Given the description of an element on the screen output the (x, y) to click on. 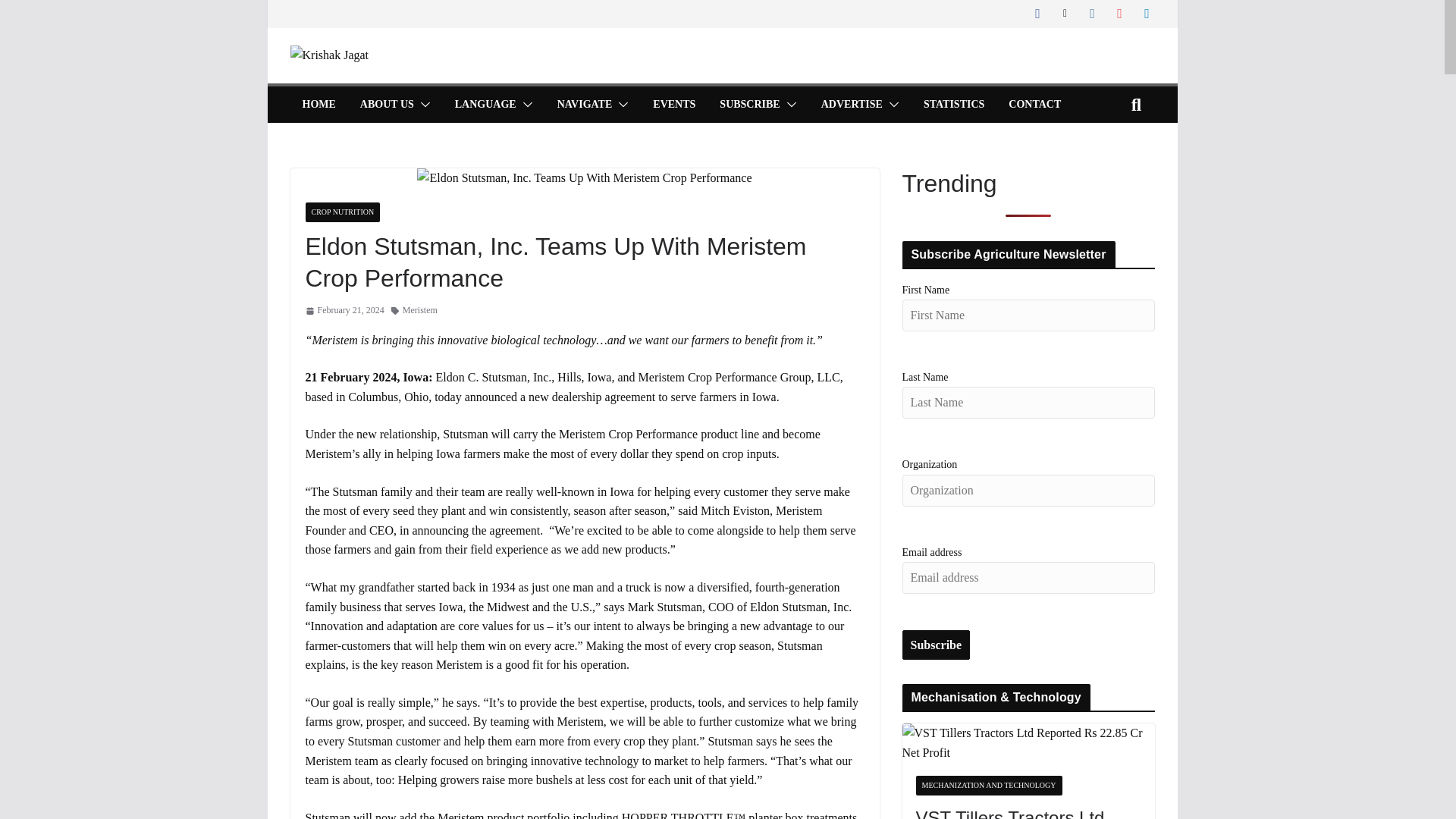
3:38 pm (344, 310)
ABOUT US (386, 104)
LANGUAGE (485, 104)
ADVERTISE (851, 104)
Subscribe (936, 644)
SUBSCRIBE (748, 104)
EVENTS (673, 104)
NAVIGATE (584, 104)
HOME (317, 104)
